Given the description of an element on the screen output the (x, y) to click on. 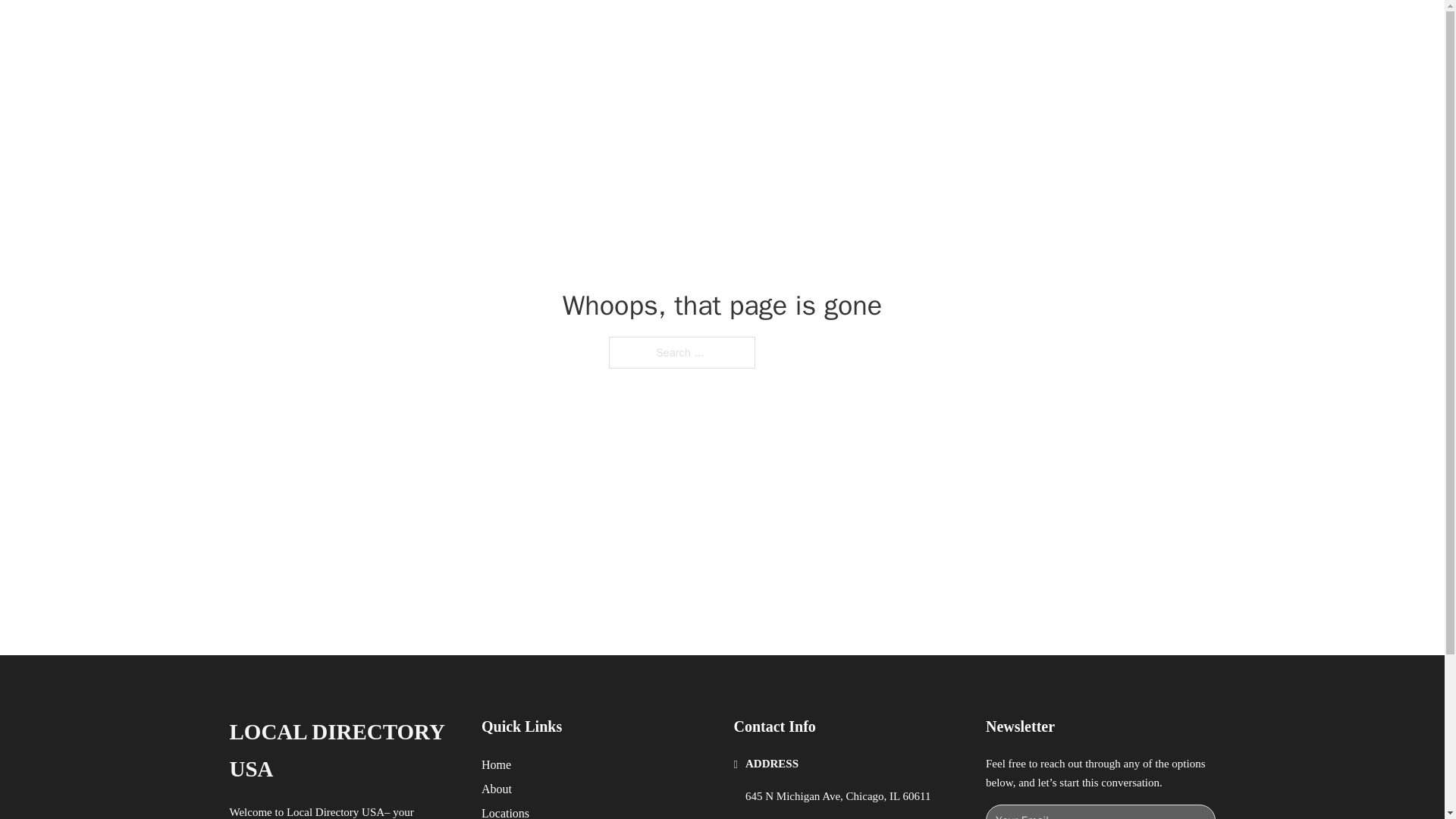
LOCAL DIRECTORY USA (425, 28)
Home (496, 764)
LOCATIONS (990, 29)
About (496, 788)
Locations (505, 811)
LOCAL DIRECTORY USA (343, 750)
HOME (919, 29)
